Given the description of an element on the screen output the (x, y) to click on. 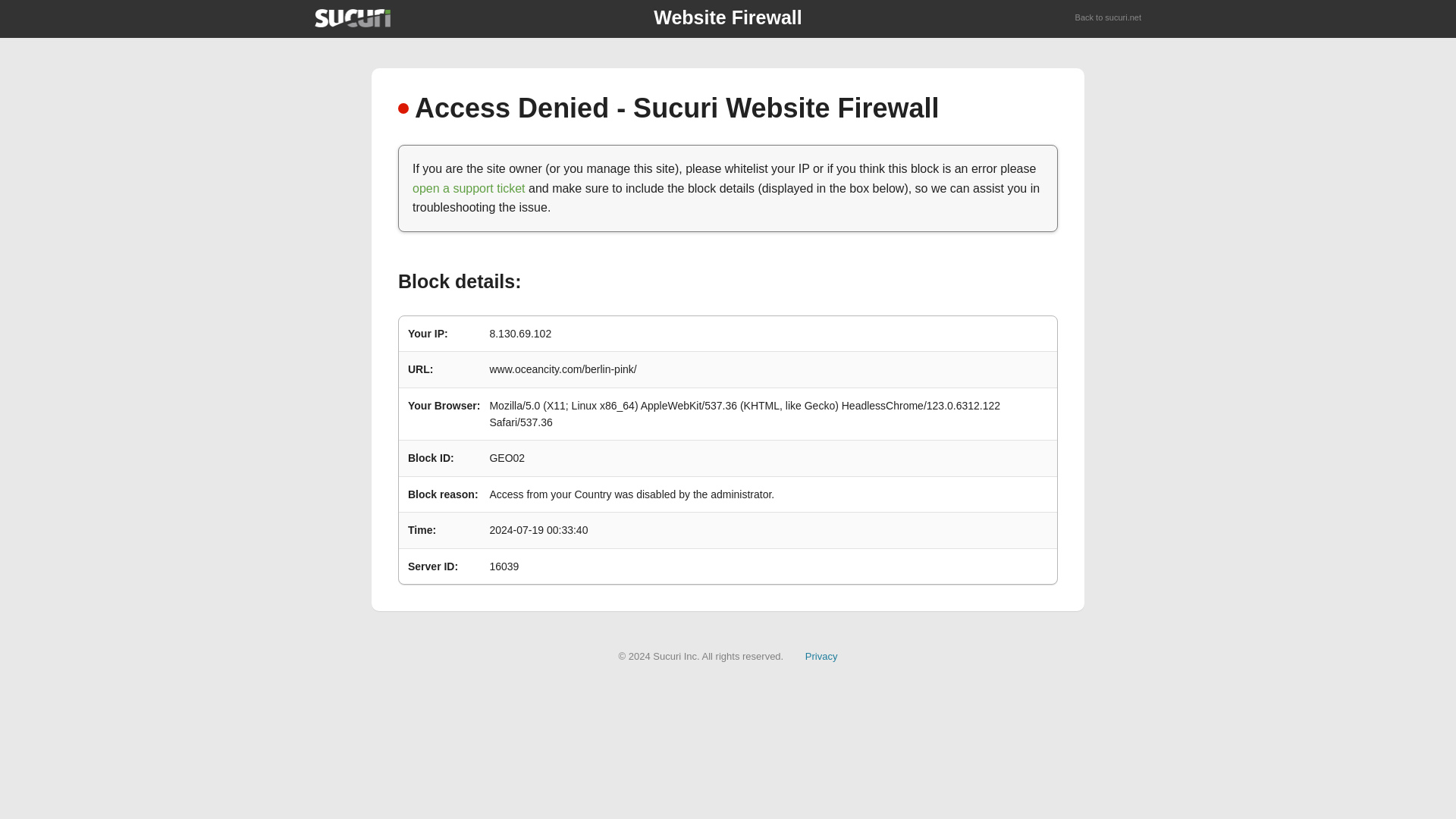
Back to sucuri.net (1108, 18)
open a support ticket (468, 187)
Privacy (821, 655)
